Given the description of an element on the screen output the (x, y) to click on. 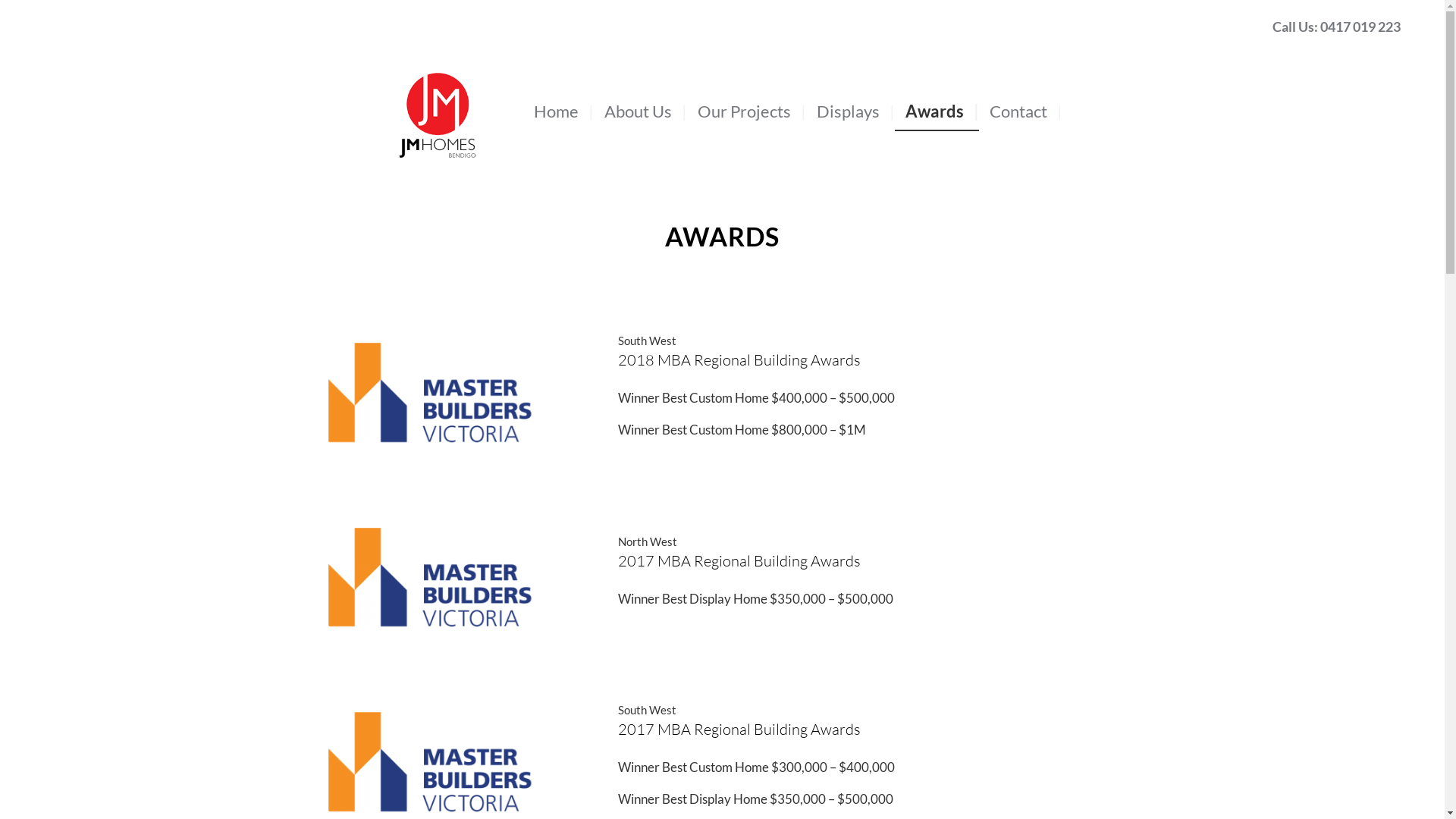
Displays Element type: text (850, 111)
Awards Element type: text (936, 111)
Our Projects Element type: text (746, 111)
0417 019 223 Element type: text (1360, 26)
Contact Element type: text (1020, 111)
Home Element type: text (558, 111)
About Us Element type: text (640, 111)
menulogo Element type: hover (437, 88)
